Given the description of an element on the screen output the (x, y) to click on. 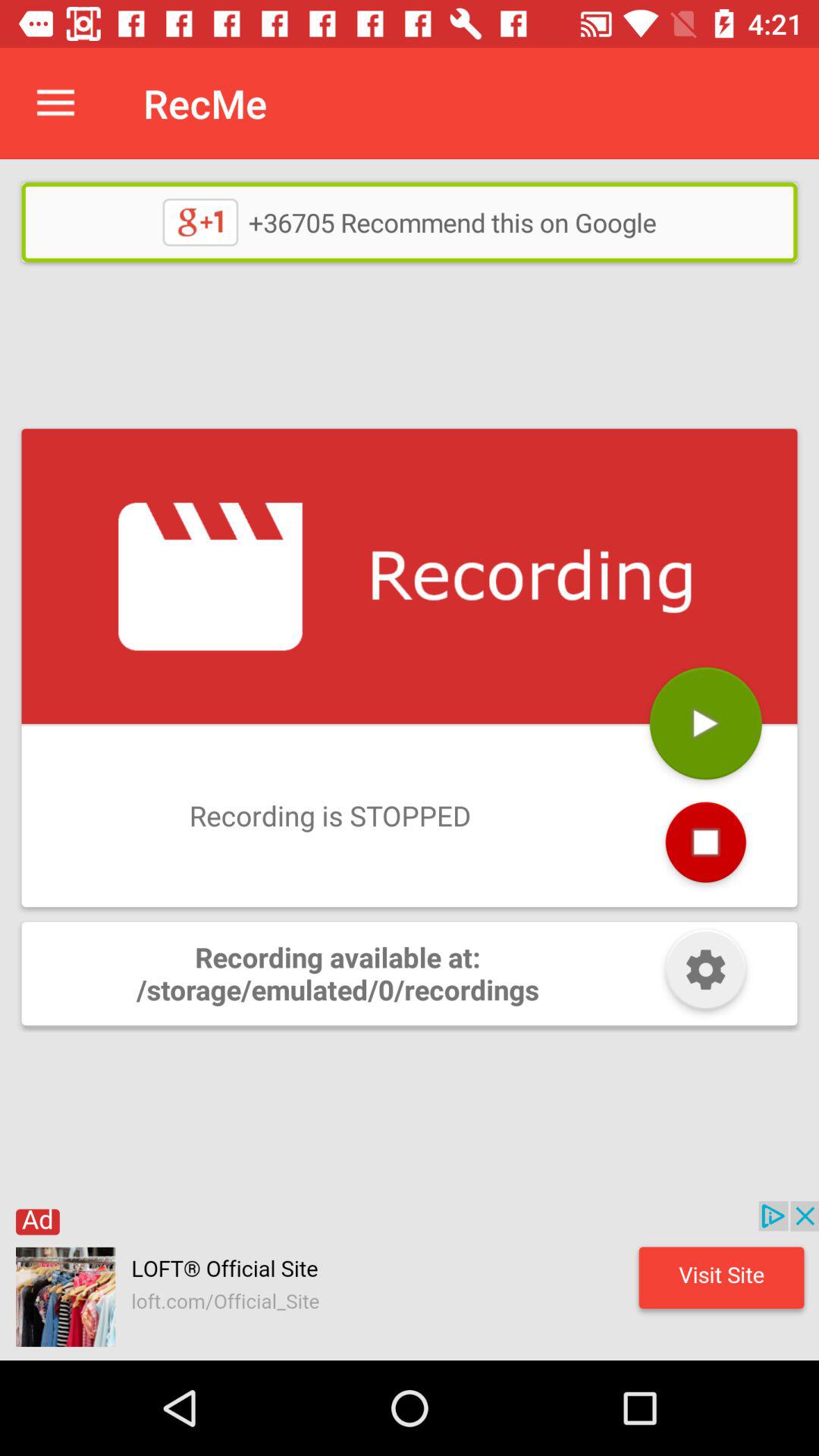
brigs up settings (705, 973)
